Given the description of an element on the screen output the (x, y) to click on. 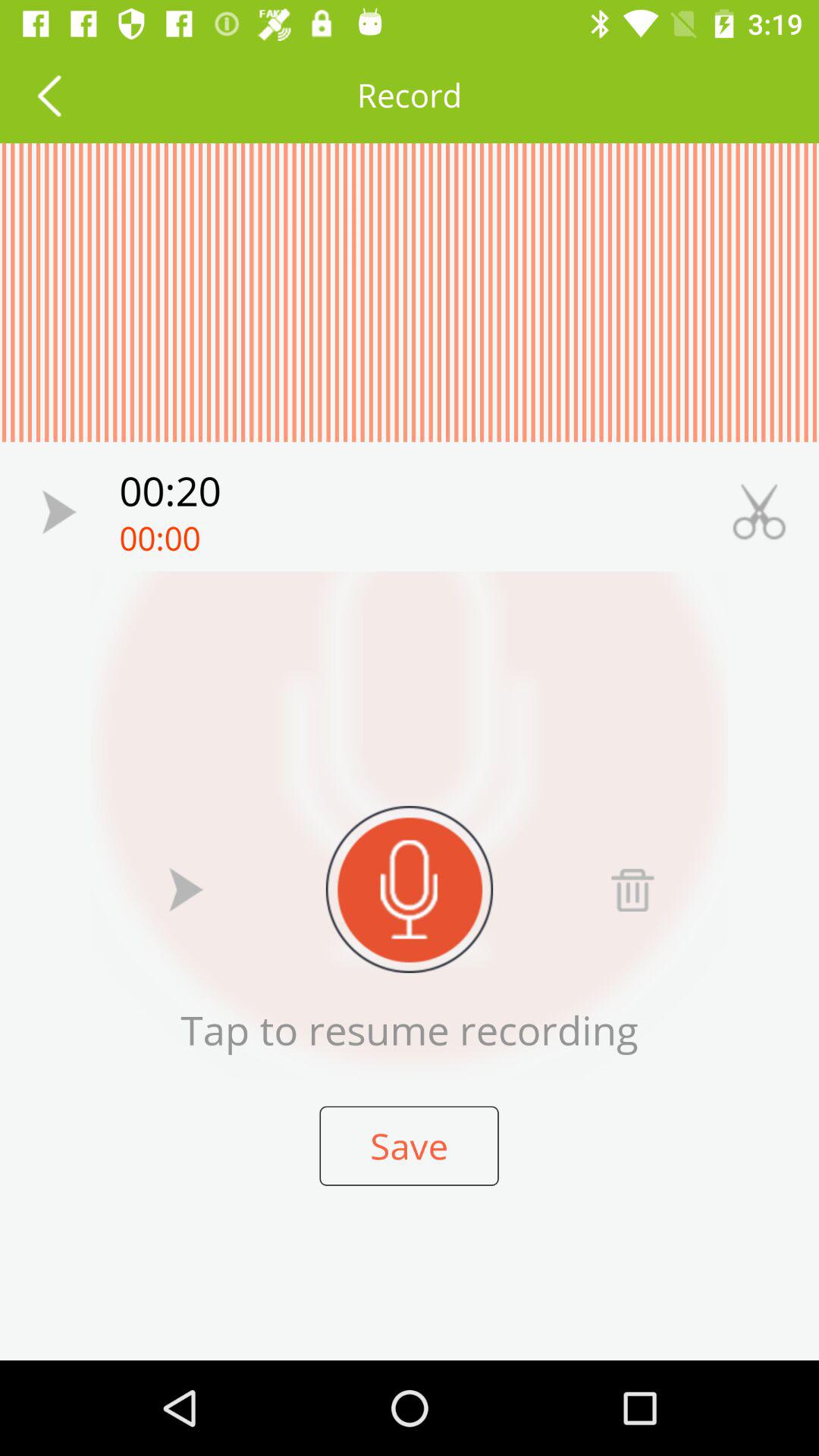
go to previous (48, 95)
